Given the description of an element on the screen output the (x, y) to click on. 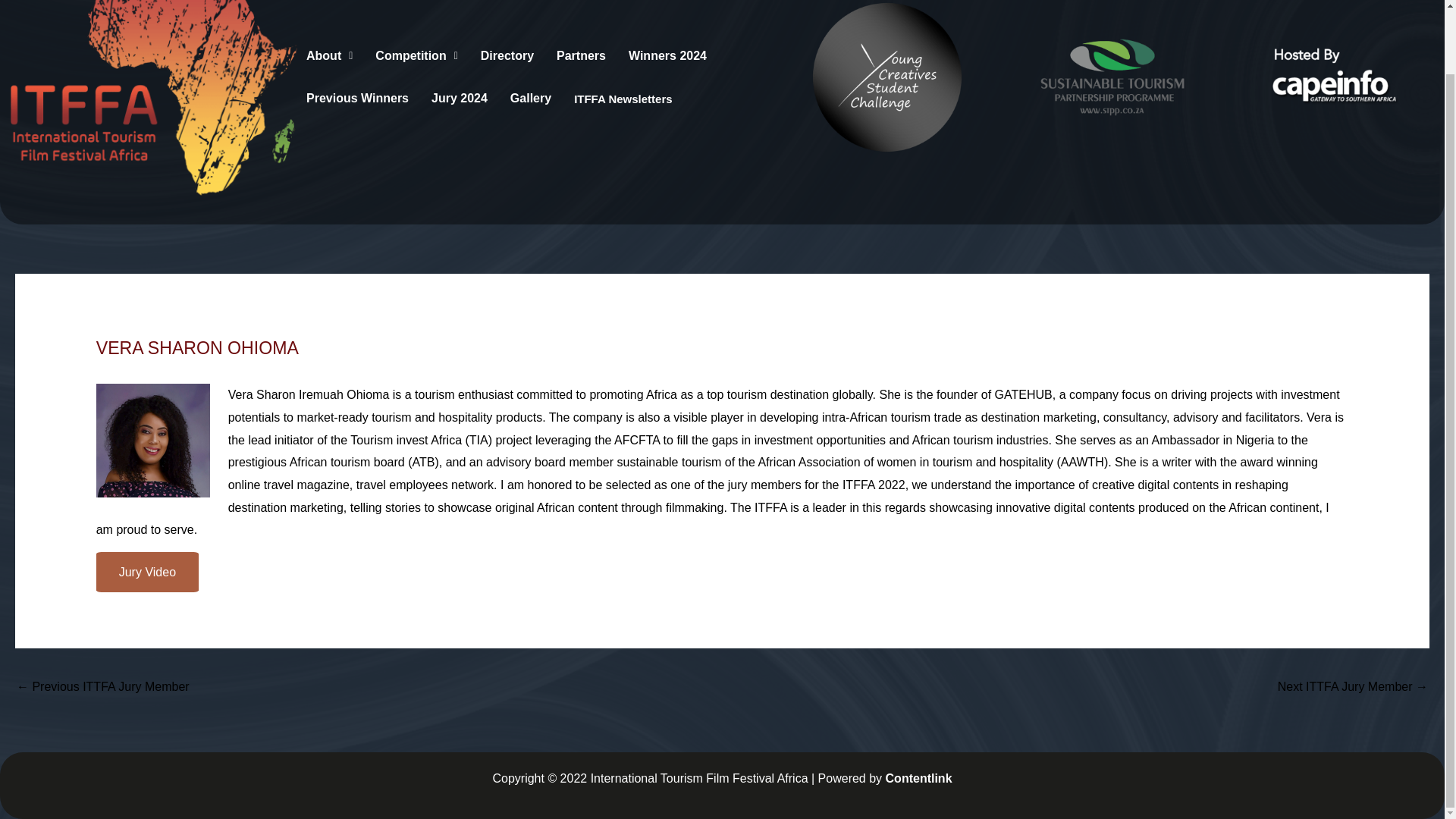
Previous Winners (357, 97)
DORIS MARIA WORFEL (1353, 687)
Jury Video (147, 572)
Directory (507, 55)
Jury 2024 (459, 97)
TOLENE VAN DER MERWE (102, 687)
Gallery (530, 97)
Competition (416, 55)
About (328, 55)
Partners (580, 55)
Winners 2024 (667, 55)
ITFFA Newsletters (622, 97)
